Given the description of an element on the screen output the (x, y) to click on. 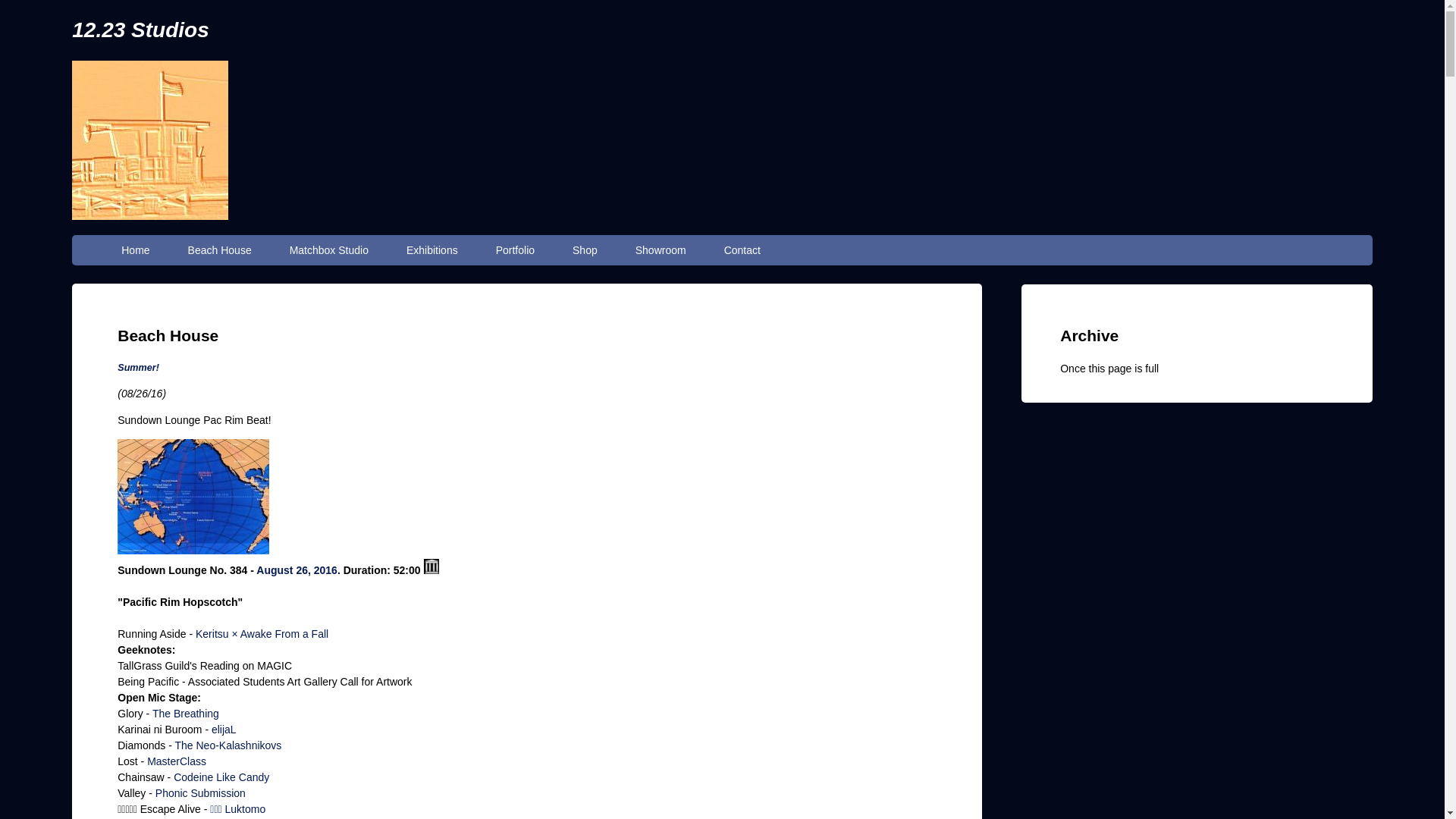
Phonic Submission Element type: text (200, 793)
August 26, 2016. Element type: text (298, 570)
Matchbox Studio Element type: text (328, 250)
Contact Element type: text (742, 250)
Beach House Element type: text (219, 250)
The Breathing Element type: text (185, 713)
Codeine Like Candy Element type: text (221, 777)
Exhibitions Element type: text (431, 250)
Portfolio Element type: text (514, 250)
MasterClass Element type: text (176, 761)
Home Element type: text (135, 250)
Showroom Element type: text (660, 250)
Shop Element type: text (584, 250)
elijaL Element type: text (223, 729)
The Neo-Kalashnikovs Element type: text (227, 745)
